Given the description of an element on the screen output the (x, y) to click on. 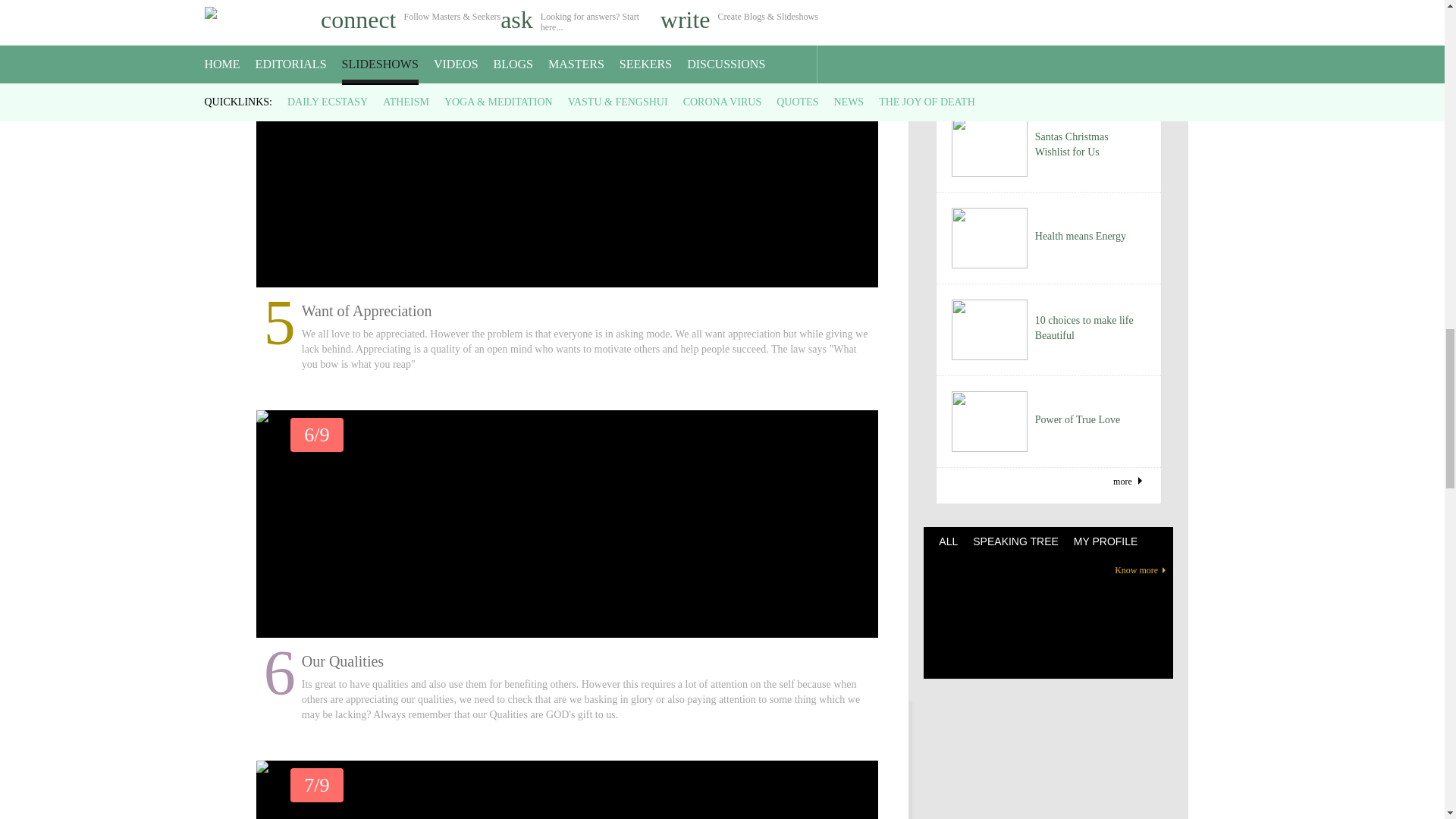
Knowledge We Posses (567, 789)
